Given the description of an element on the screen output the (x, y) to click on. 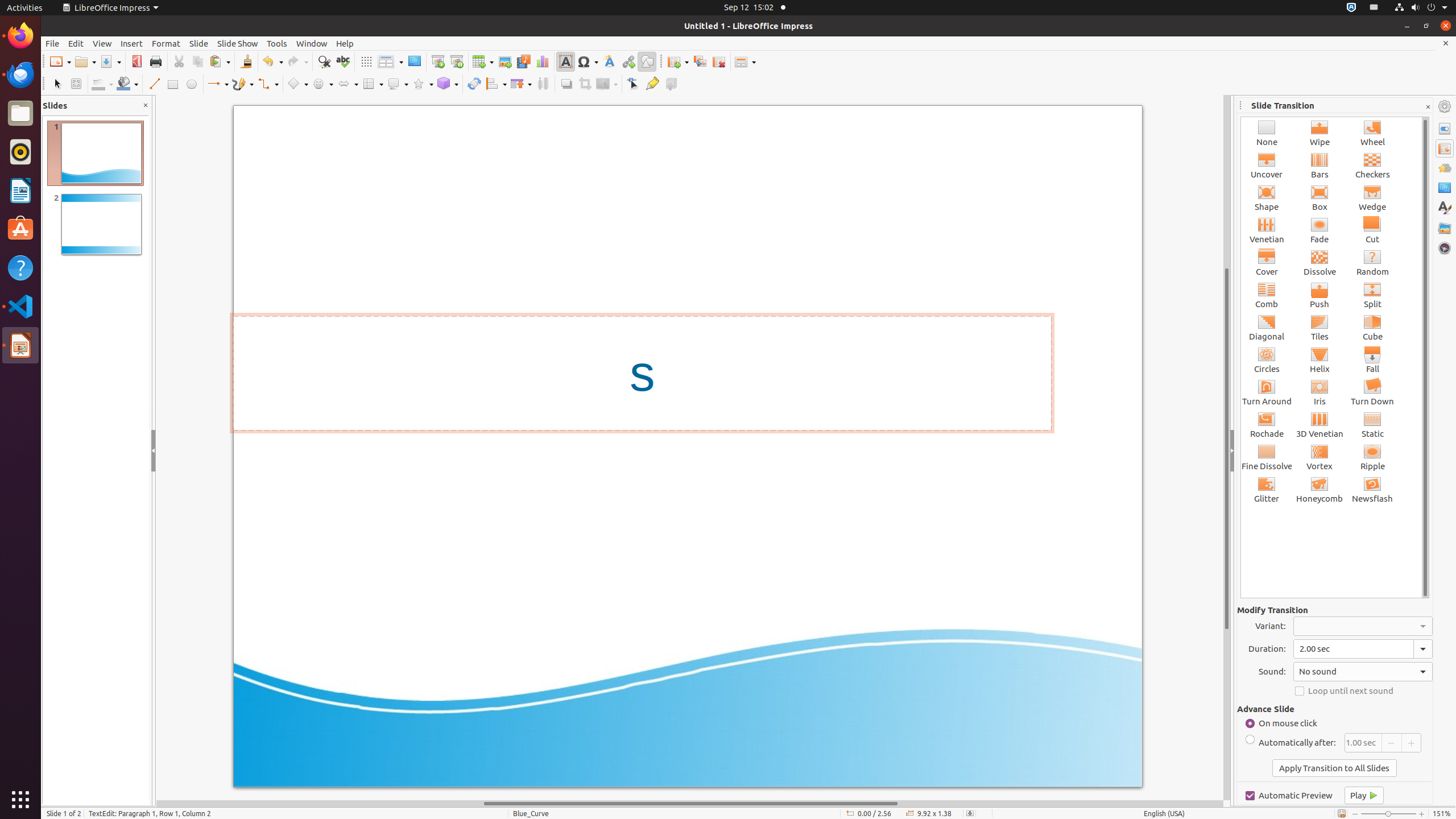
Undo Element type: push-button (271, 61)
LibreOffice Impress Element type: push-button (20, 344)
Turn Around Element type: list-item (1266, 391)
Duplicate Slide Element type: push-button (699, 61)
Comb Element type: list-item (1266, 294)
